Given the description of an element on the screen output the (x, y) to click on. 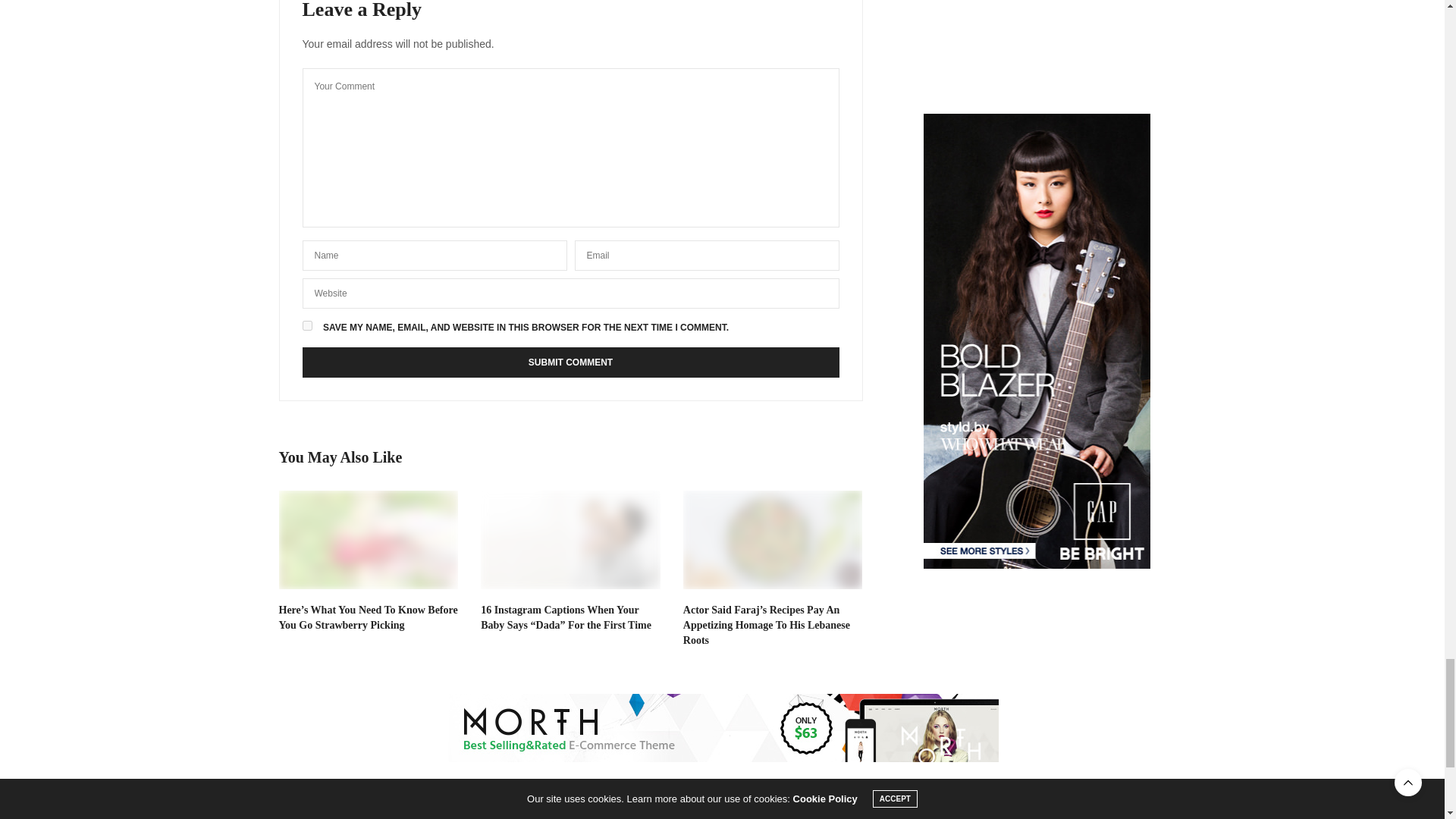
yes (306, 325)
Submit Comment (569, 362)
